Given the description of an element on the screen output the (x, y) to click on. 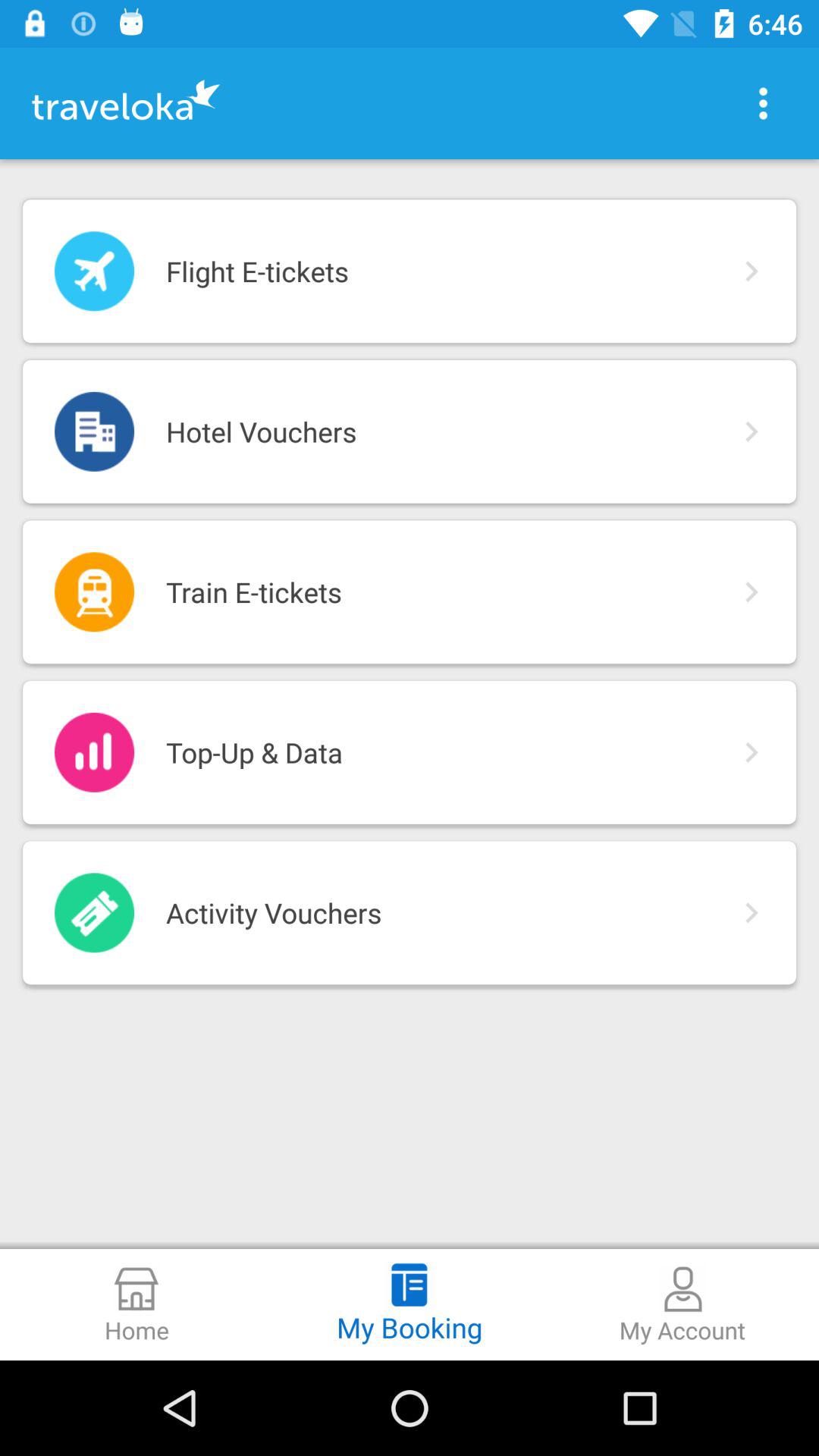
turn on icon above the flight e-tickets item (763, 103)
